Given the description of an element on the screen output the (x, y) to click on. 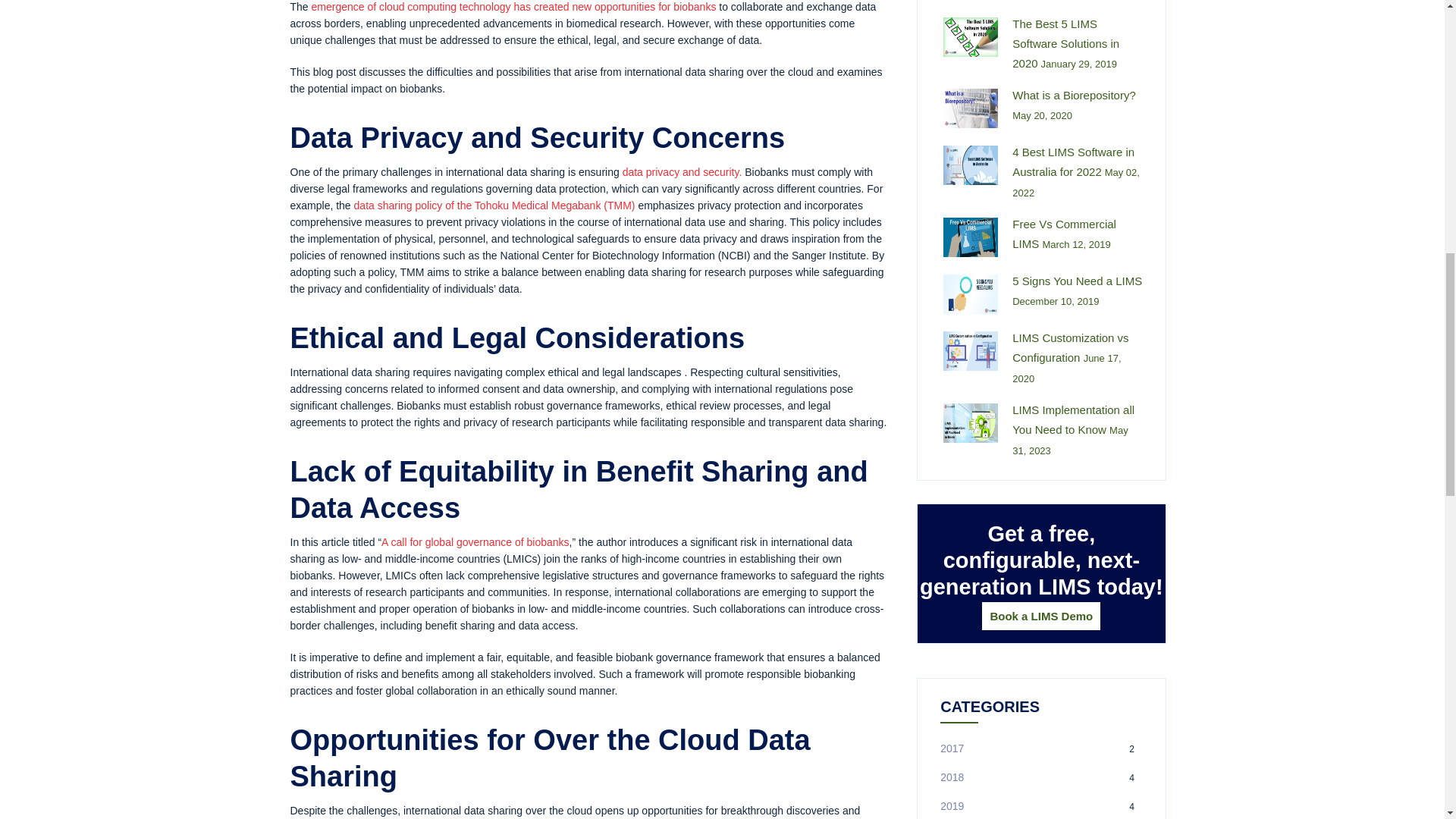
A call for global governance of biobanks (475, 541)
data privacy and security. (682, 172)
